Given the description of an element on the screen output the (x, y) to click on. 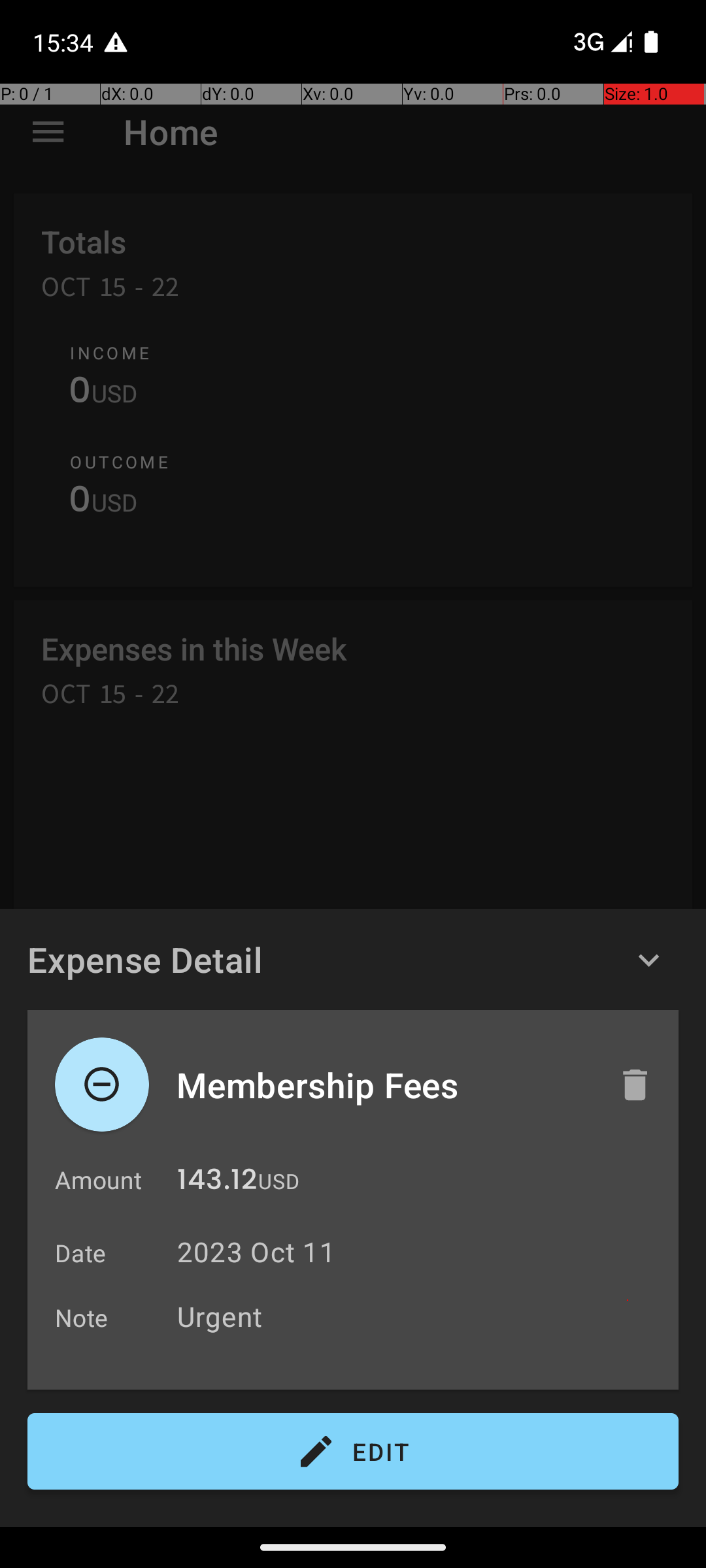
Membership Fees Element type: android.widget.TextView (383, 1084)
143.12 Element type: android.widget.TextView (216, 1182)
Urgent Element type: android.widget.TextView (420, 1315)
